Given the description of an element on the screen output the (x, y) to click on. 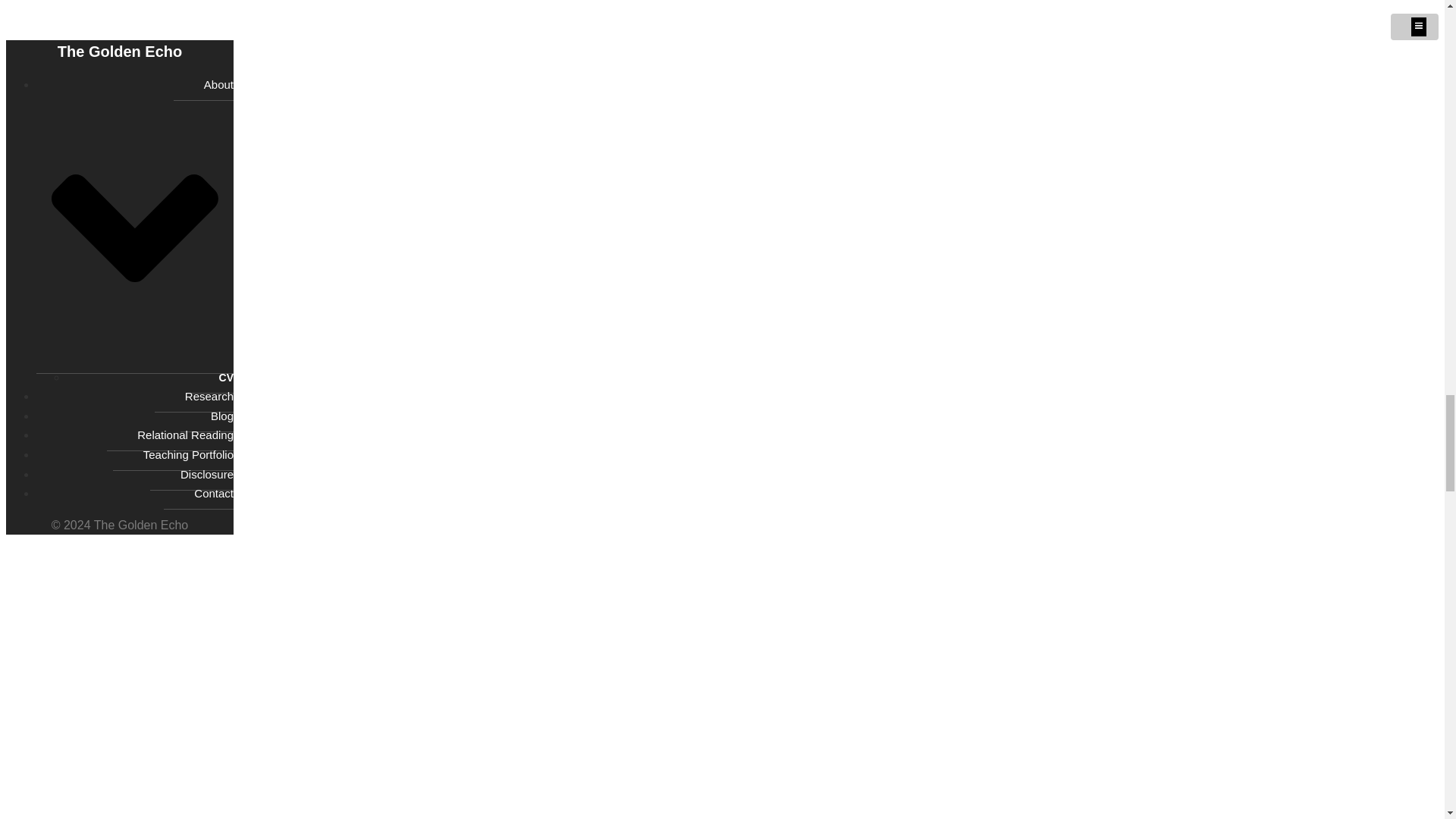
CV (210, 377)
About (134, 220)
Teaching Portfolio (172, 454)
The Golden Echo (120, 51)
Contact (197, 493)
Disclosure (190, 474)
Blog (206, 416)
Research (193, 396)
Relational Reading (169, 435)
